Given the description of an element on the screen output the (x, y) to click on. 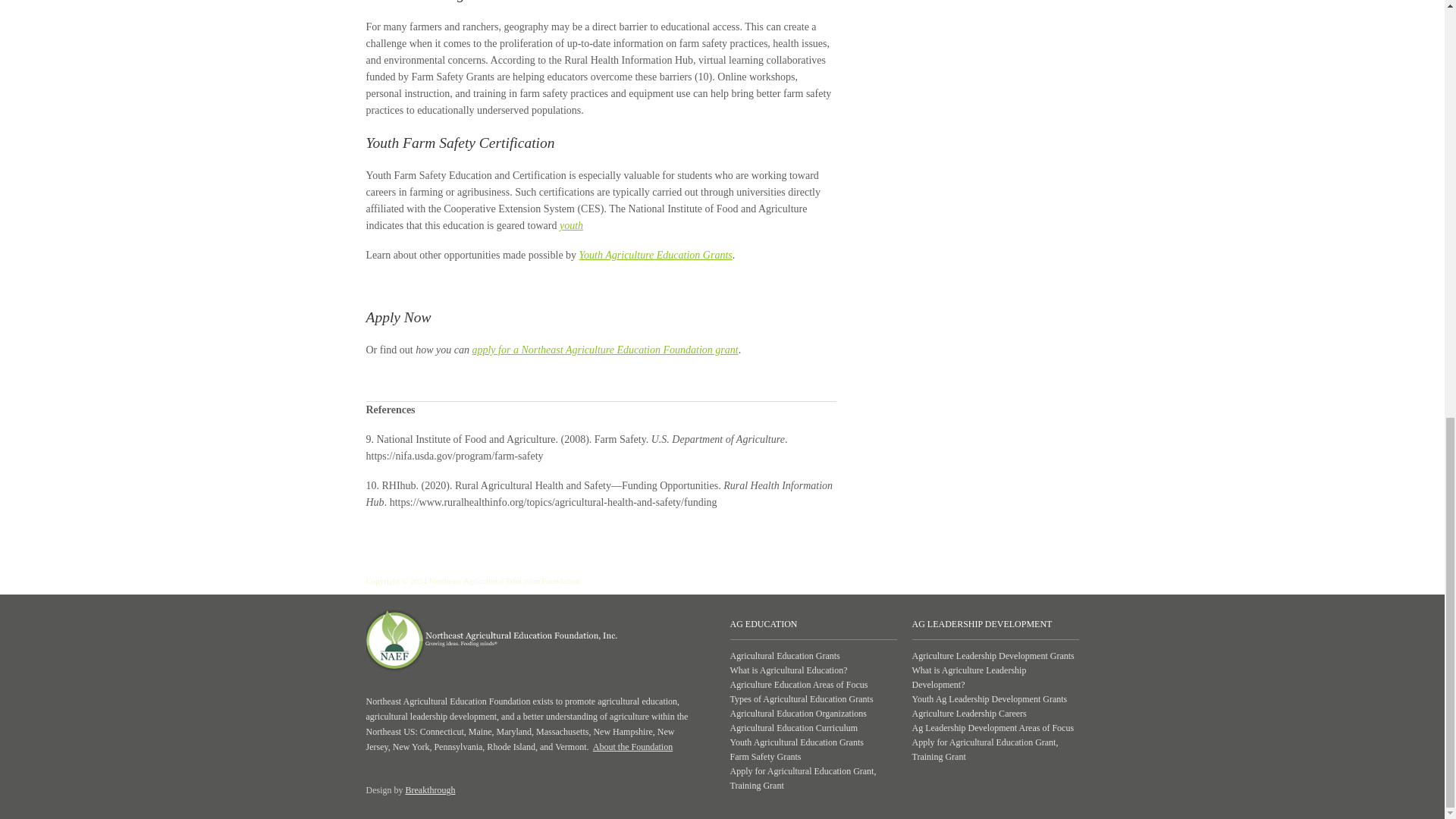
apply for a Northeast Agriculture Education Foundation grant (604, 349)
Youth Agriculture Education Grants (655, 255)
youth (571, 225)
Website Design by BDG (429, 789)
